Given the description of an element on the screen output the (x, y) to click on. 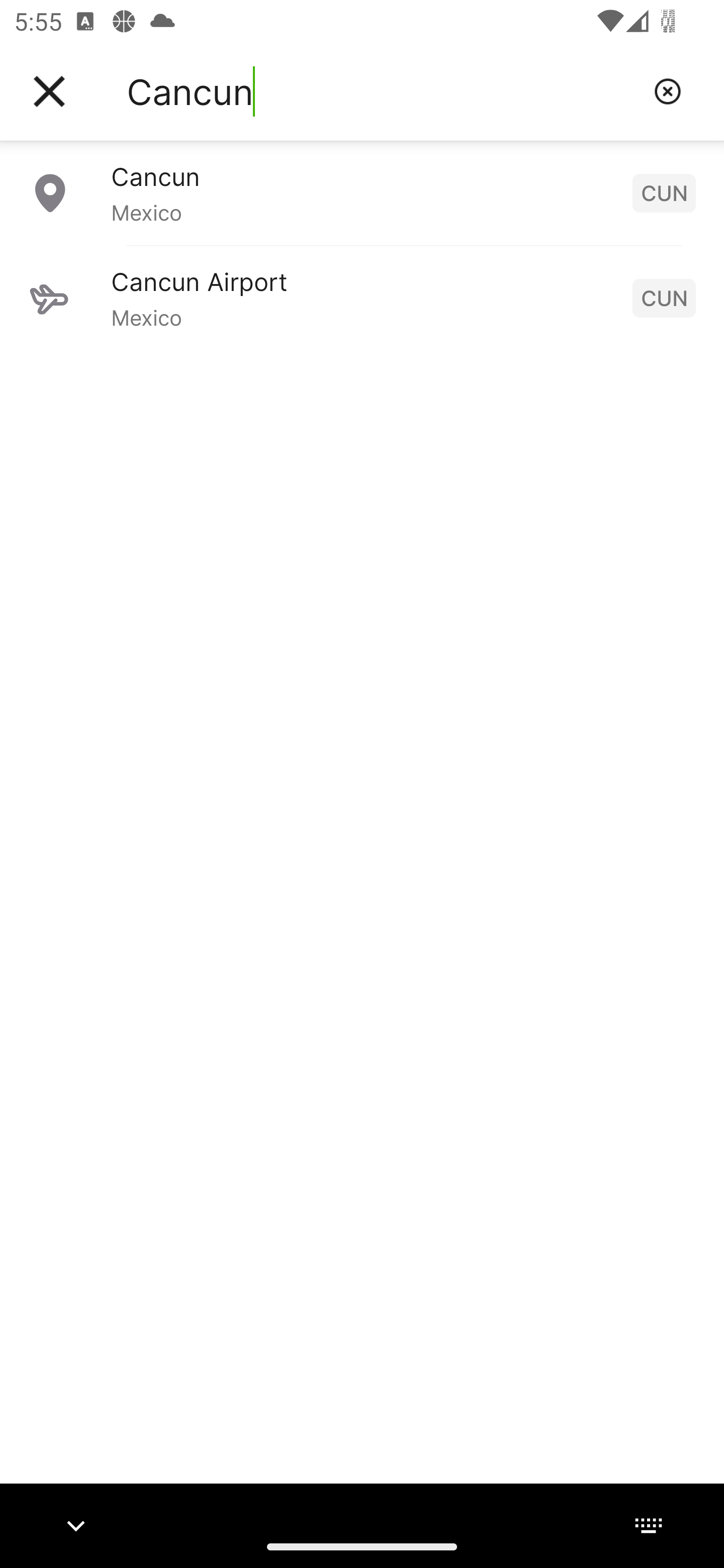
Cancun (382, 91)
Cancun Mexico CUN (362, 192)
Cancun Airport Mexico CUN (362, 297)
